Given the description of an element on the screen output the (x, y) to click on. 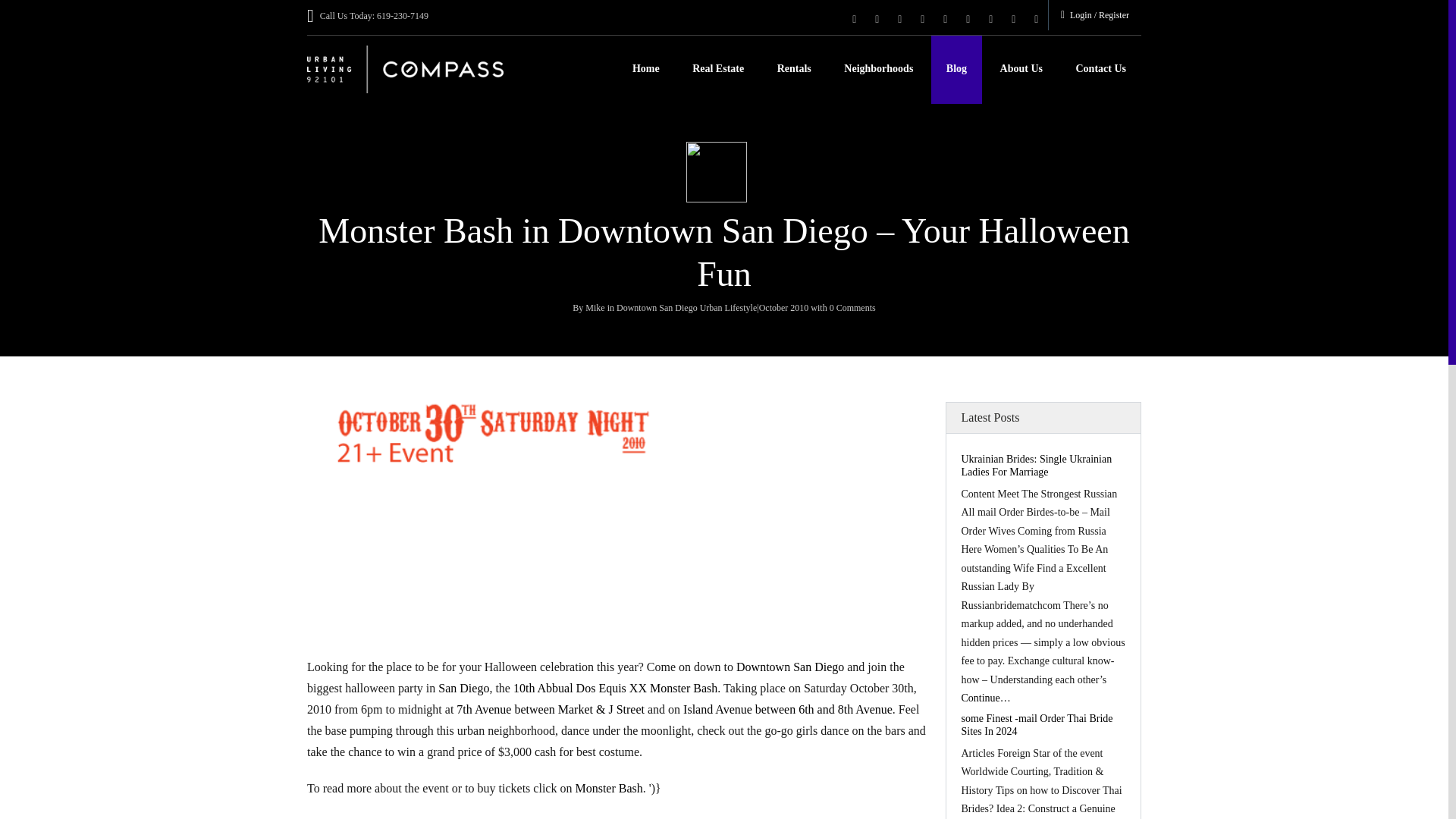
619-230-7149 (402, 15)
Monster Bach in Downtown San Diego - Your Halloween Fun (617, 434)
Monster Bash (608, 788)
San Diego (463, 687)
10th Abbual Dos Equis XX Monster Bash (615, 687)
Rentals (794, 70)
Neighborhoods (878, 70)
Monster Bach in Downtown San Diego - Your Halloween Fun (617, 561)
Island Avenue between 6th and 8th Avenue (787, 708)
Downtown San Diego (790, 666)
